Given the description of an element on the screen output the (x, y) to click on. 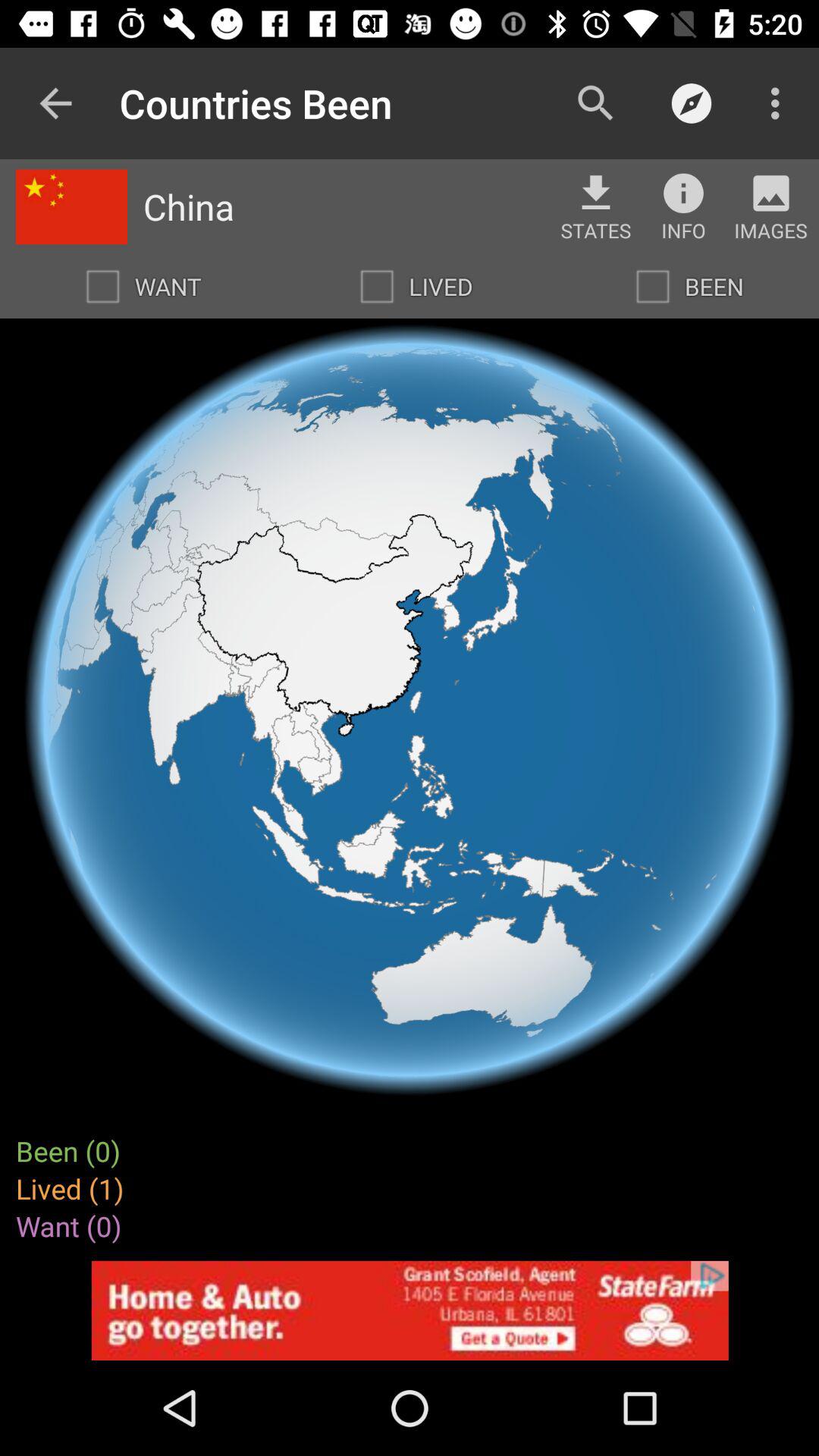
lived check the button (376, 286)
